Given the description of an element on the screen output the (x, y) to click on. 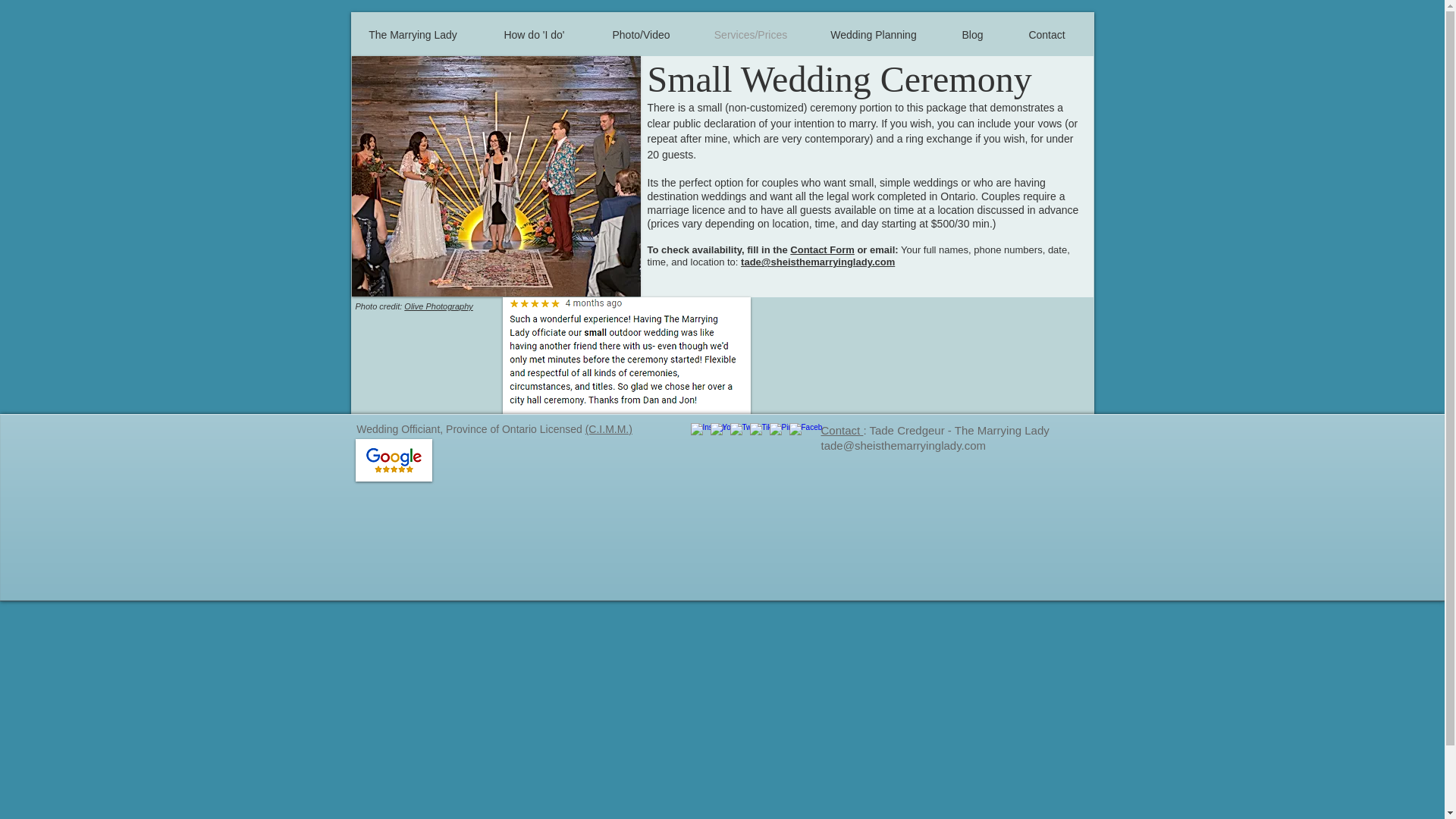
The Marrying Lady (412, 35)
Contact Form (822, 249)
Olive Photography (438, 306)
mandy.jpg (496, 176)
How do 'I do' (533, 35)
